Given the description of an element on the screen output the (x, y) to click on. 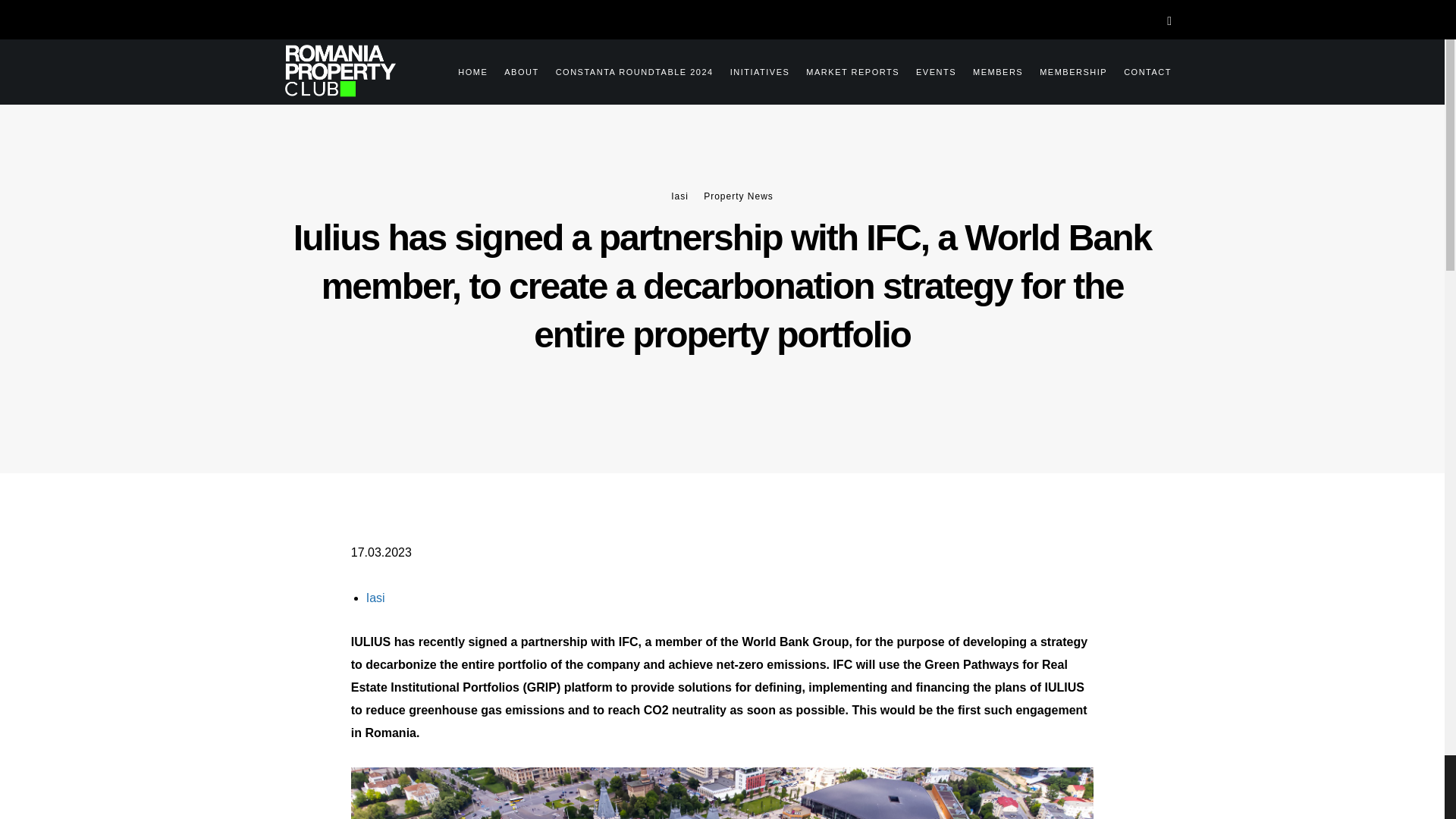
Iasi (375, 597)
MEMBERSHIP (1064, 70)
Iasi (679, 195)
INITIATIVES (751, 70)
CONSTANTA ROUNDTABLE 2024 (625, 70)
Property News (738, 195)
CONTACT (1139, 70)
MARKET REPORTS (844, 70)
MEMBERS (989, 70)
